Given the description of an element on the screen output the (x, y) to click on. 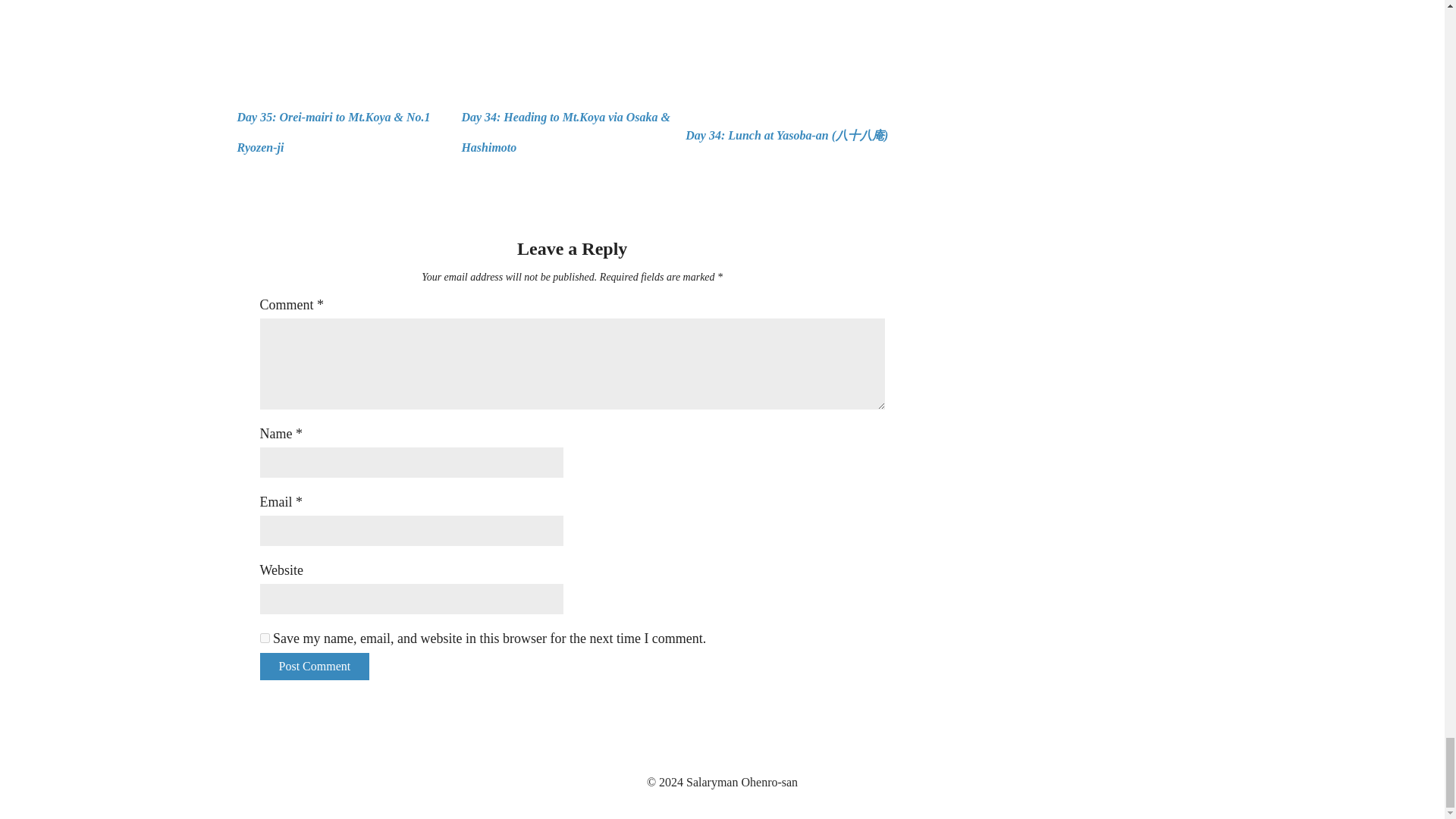
yes (264, 637)
Post Comment (314, 666)
Post Comment (314, 666)
